Given the description of an element on the screen output the (x, y) to click on. 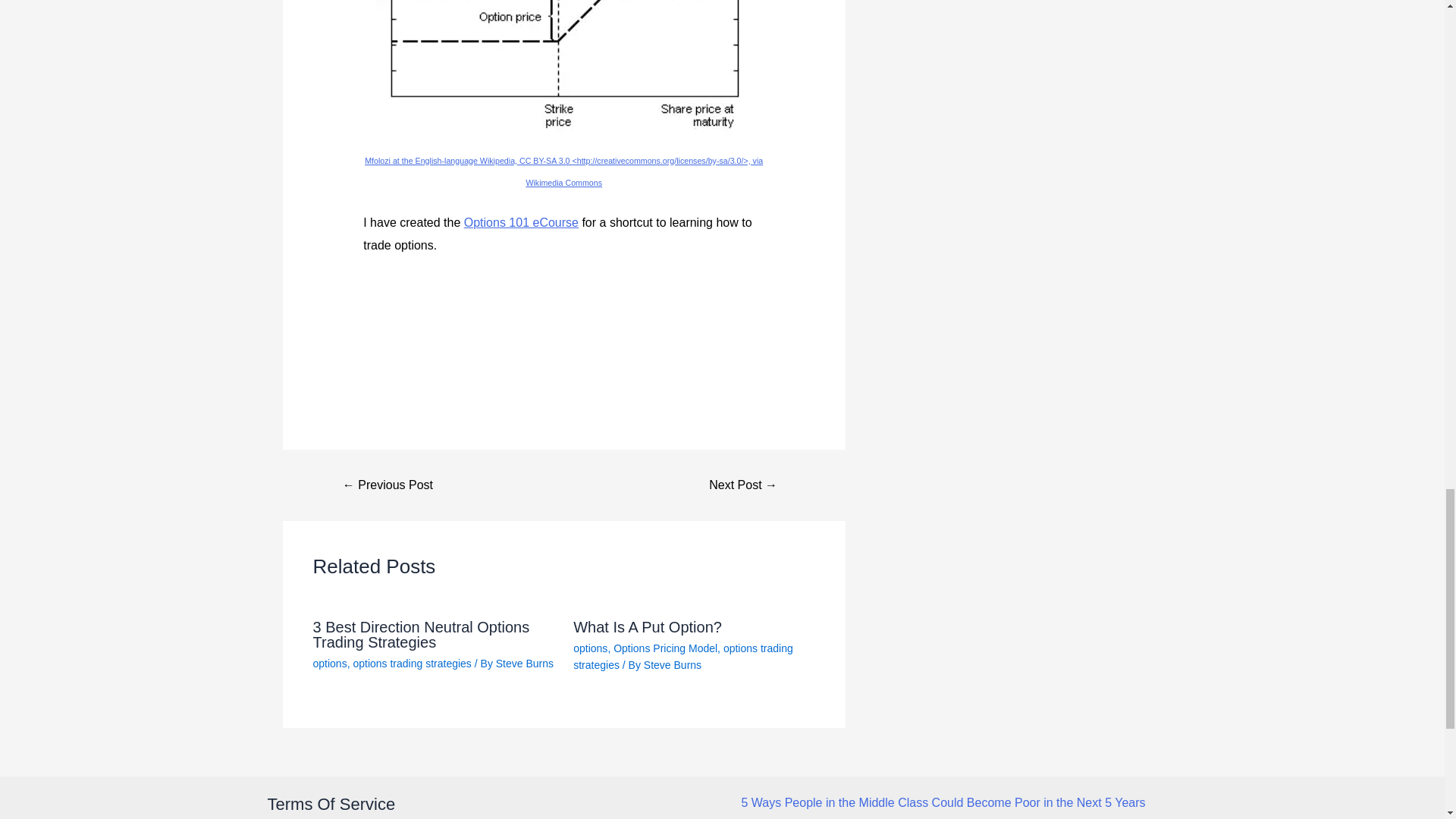
Sell to Open vs Sell to Close 3 (563, 69)
Buy to Open vs Buy to Close (742, 485)
View all posts by Steve Burns (524, 663)
View all posts by Steve Burns (672, 664)
Sell to Open vs Sell to Close 4 (457, 299)
Rounding Top (387, 485)
